Given the description of an element on the screen output the (x, y) to click on. 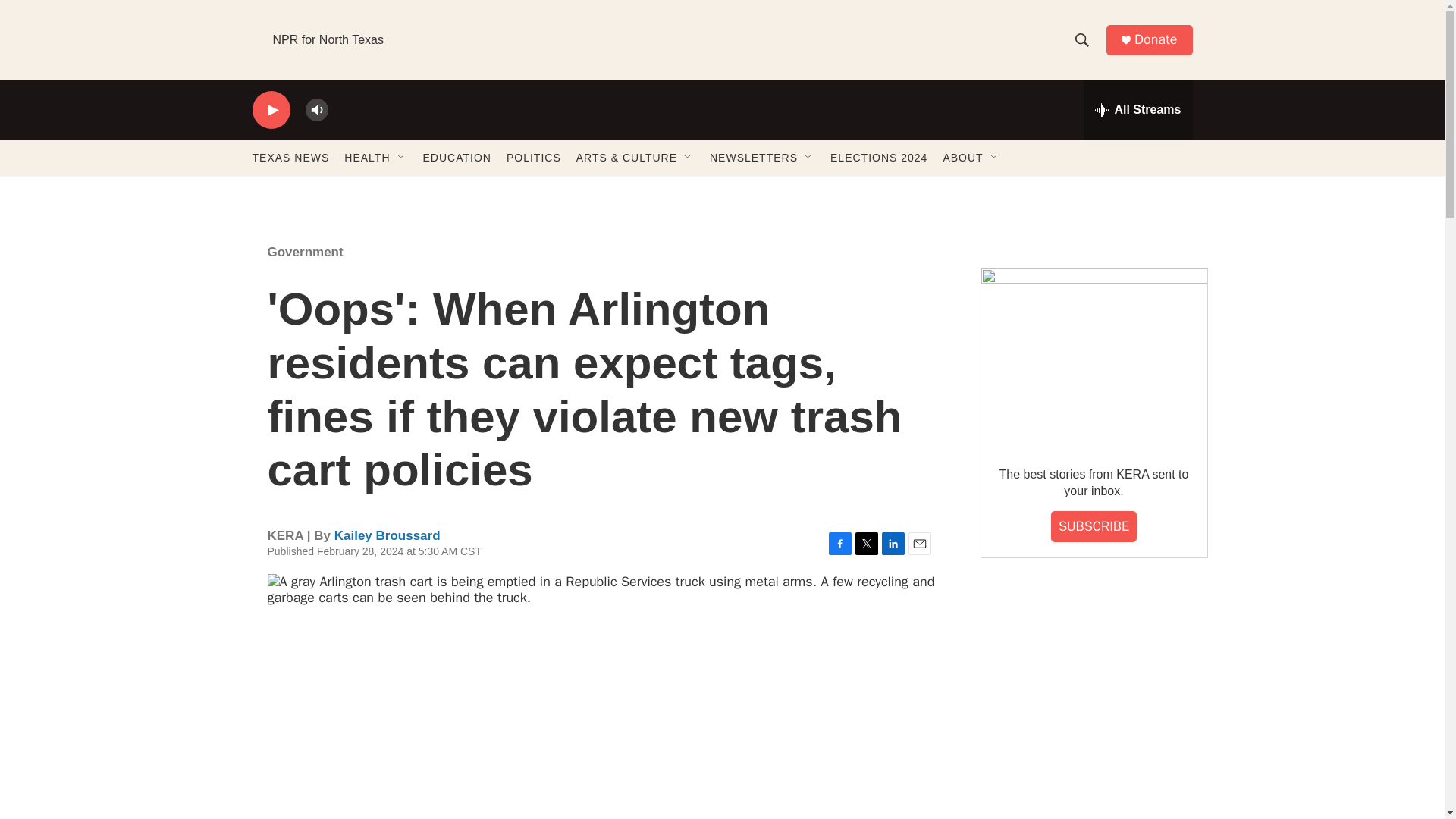
Show Search (1081, 39)
